Given the description of an element on the screen output the (x, y) to click on. 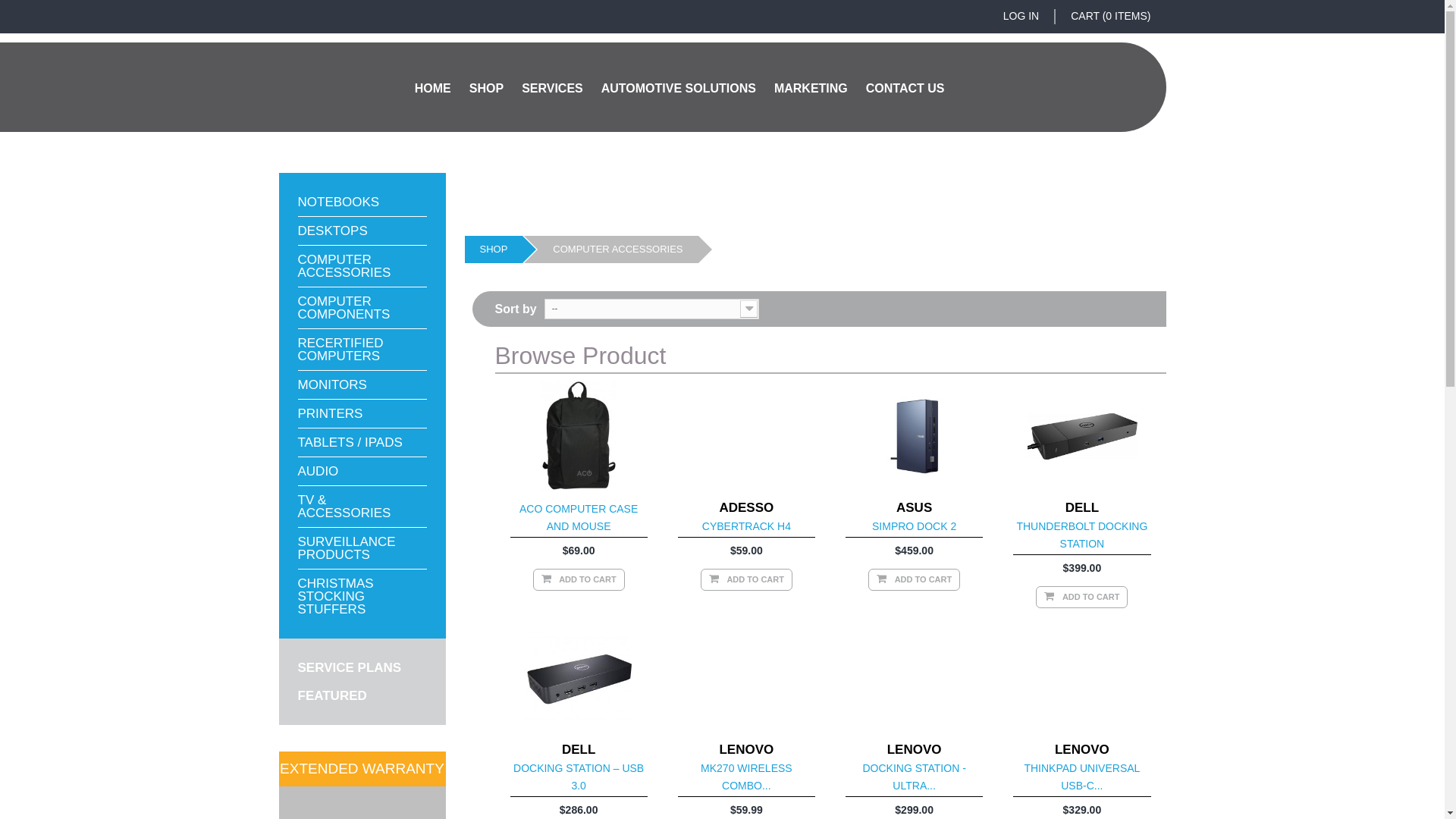
ADD TO CART Element type: text (578, 579)
COMPUTER ACCESSORIES Element type: text (343, 265)
ASUS Element type: text (913, 507)
MK270 WIRELESS COMBO... Element type: text (746, 776)
SIMPRO DOCK 2 Element type: text (914, 526)
THUNDERBOLT DOCKING STATION Element type: text (1081, 534)
SERVICES Element type: text (552, 88)
AUDIO Element type: text (317, 471)
PRINTERS Element type: text (329, 413)
SHOP Element type: text (486, 88)
LENOVO Element type: text (745, 749)
NOTEBOOKS Element type: text (338, 201)
COMPUTER COMPONENTS Element type: text (343, 307)
ADD TO CART Element type: text (746, 579)
ThinkPad Universal USB-C Dock v2 Element type: hover (1081, 678)
LENOVO Element type: text (1081, 749)
TABLETS / IPADS Element type: text (349, 442)
SERVICE PLANS Element type: text (349, 667)
ACO Computer Case and Mouse Element type: hover (577, 436)
CONTACT US Element type: text (905, 88)
Docking Station - Ultra Dock 40AJ Element type: hover (913, 678)
ADD TO CART Element type: text (1081, 597)
SHOP Element type: text (493, 248)
Thunderbolt Docking Station Element type: hover (1081, 436)
LENOVO Element type: text (914, 749)
THINKPAD UNIVERSAL USB-C... Element type: text (1081, 776)
MARKETING Element type: text (810, 88)
CART (0 ITEMS) Element type: text (1110, 16)
CHRISTMAS STOCKING STUFFERS Element type: text (335, 596)
CYBERTRACK H4 Element type: text (746, 526)
FEATURED Element type: text (331, 695)
ACO COMPUTER CASE AND MOUSE Element type: text (578, 517)
ADESSO Element type: text (745, 507)
LOG IN Element type: text (1021, 16)
AUTOMOTIVE SOLUTIONS Element type: text (678, 88)
DELL Element type: text (1081, 507)
SURVEILLANCE PRODUCTS Element type: text (346, 547)
DOCKING STATION - ULTRA... Element type: text (913, 776)
TV & ACCESSORIES Element type: text (343, 506)
SimPro Dock 2 Element type: hover (913, 436)
HOME Element type: text (432, 88)
DESKTOPS Element type: text (332, 230)
MK270 Wireless Combo Keyboard & Mouse Set Element type: hover (746, 678)
DELL Element type: text (578, 749)
MONITORS Element type: text (331, 384)
ADD TO CART Element type: text (914, 579)
CyberTrack H4 Element type: hover (746, 436)
RECERTIFIED COMPUTERS Element type: text (339, 349)
